Given the description of an element on the screen output the (x, y) to click on. 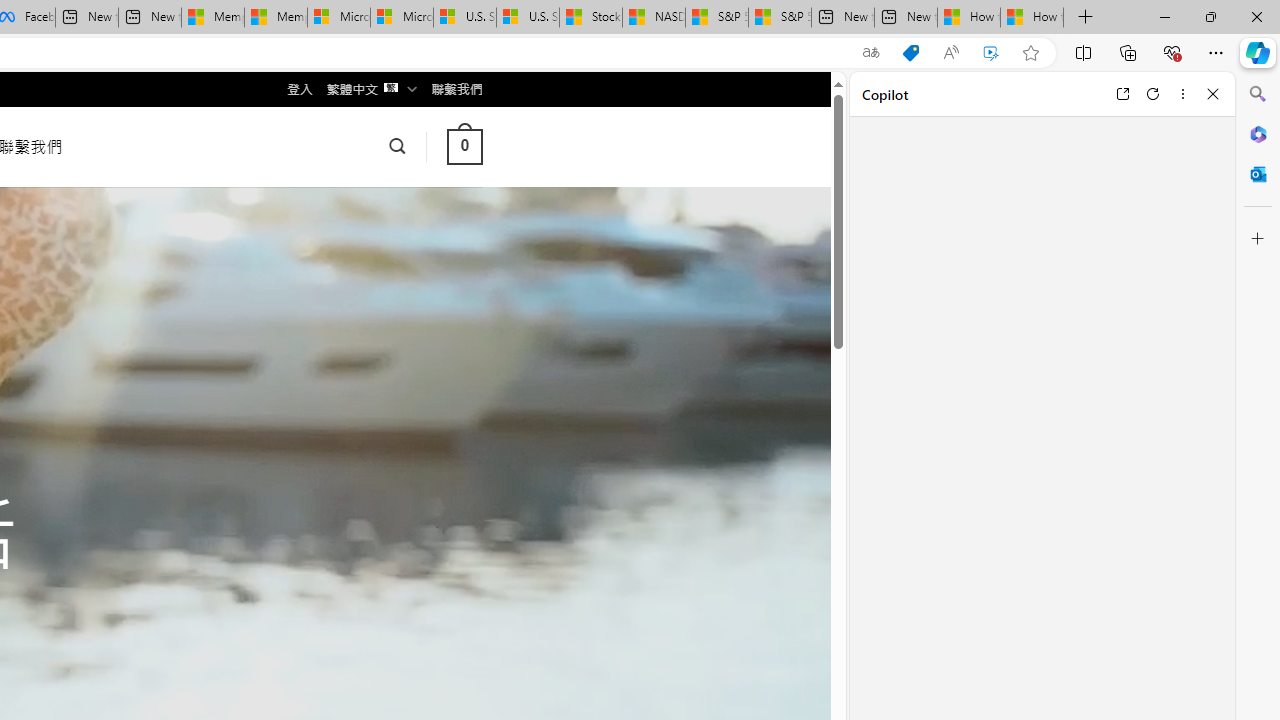
Enhance video (991, 53)
Outlook (1258, 174)
This site has coupons! Shopping in Microsoft Edge (910, 53)
